Given the description of an element on the screen output the (x, y) to click on. 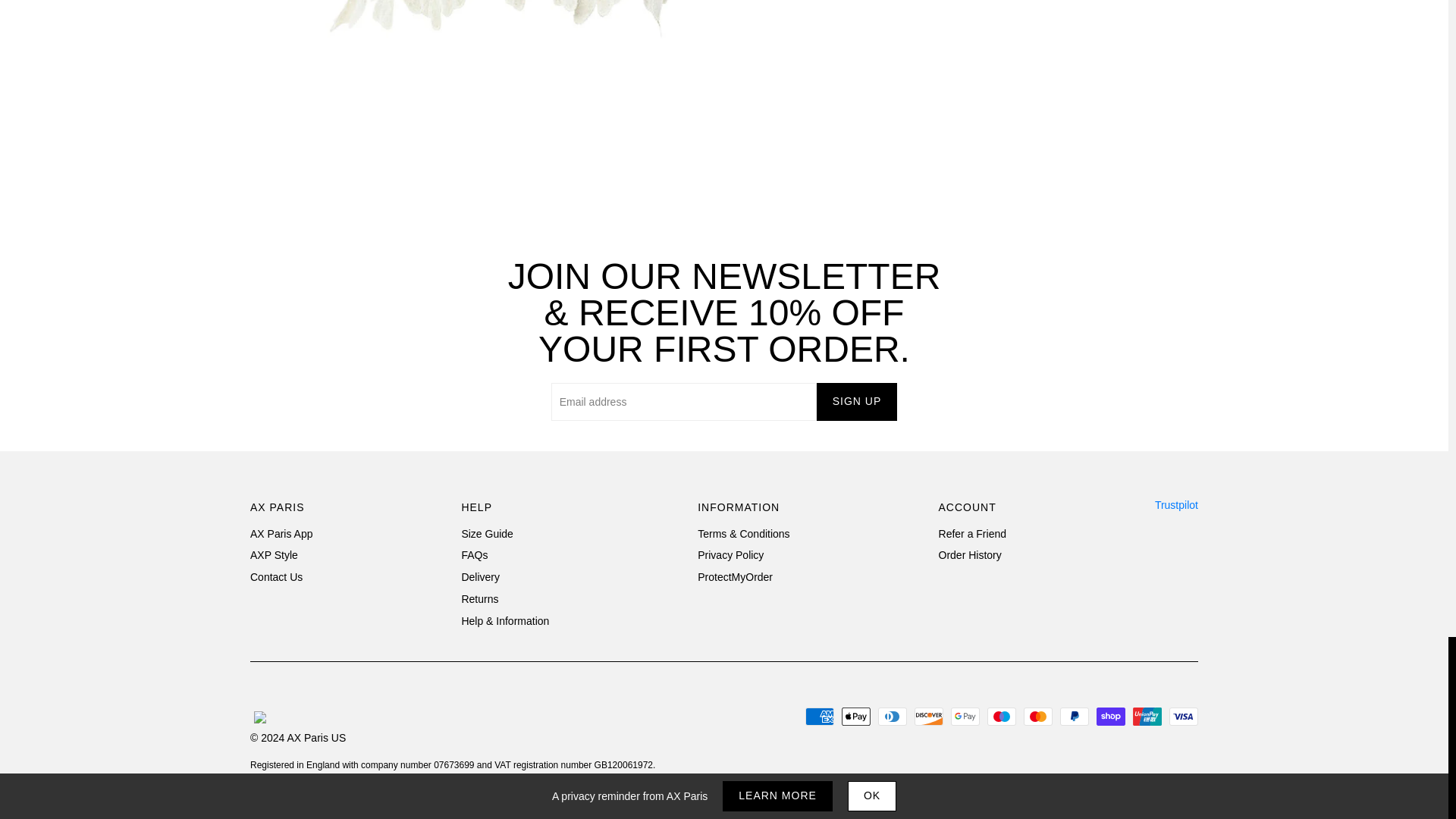
Union Pay (1146, 716)
Maestro (1001, 716)
Google Pay (964, 716)
American Express (819, 716)
Diners Club (892, 716)
Discover (928, 716)
Apple Pay (855, 716)
PayPal (1074, 716)
Shop Pay (1110, 716)
Mastercard (1037, 716)
